Given the description of an element on the screen output the (x, y) to click on. 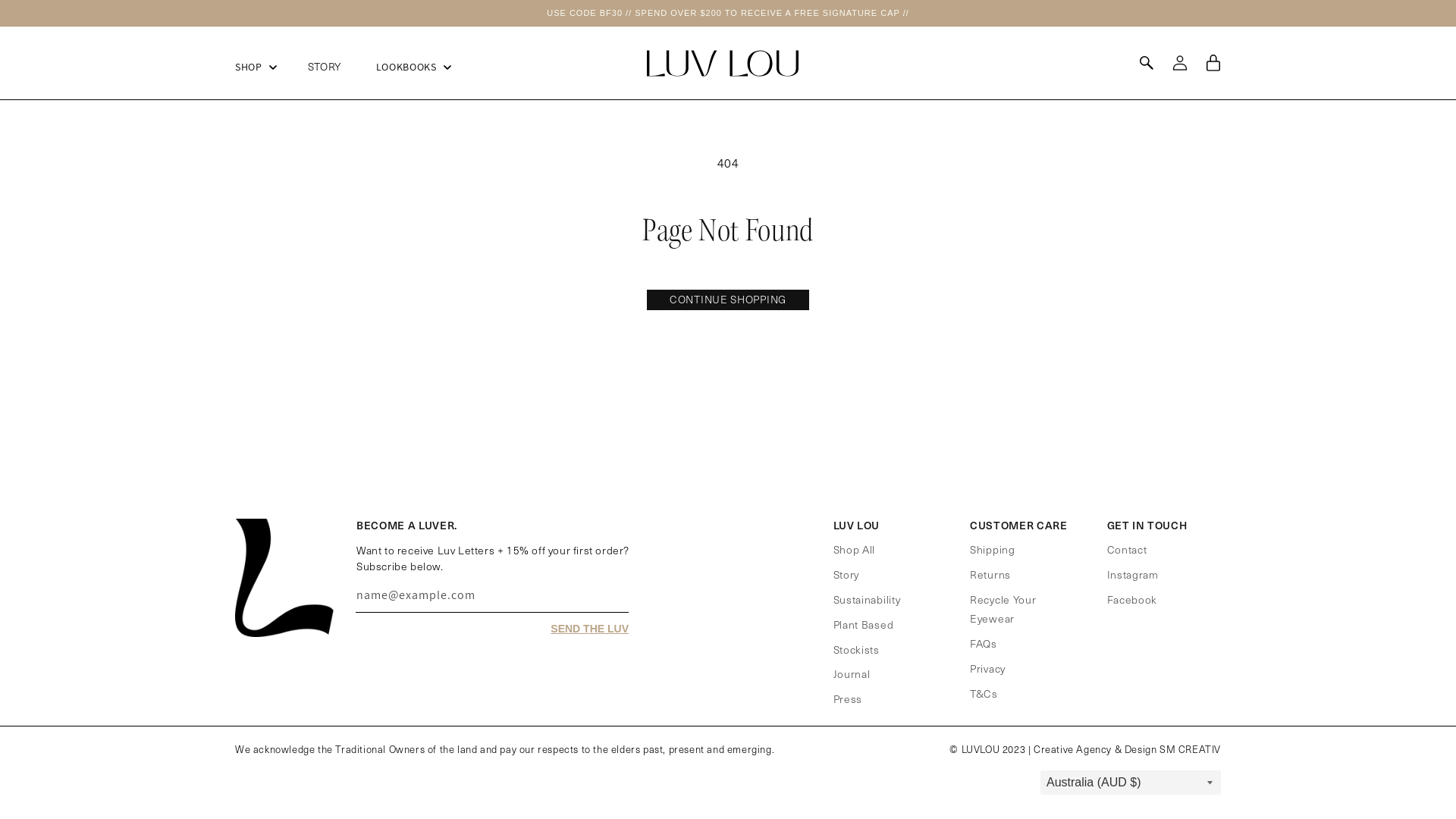
SEND THE LUV Element type: text (589, 628)
Recycle Your Eyewear Element type: text (1021, 606)
Privacy Element type: text (987, 666)
T&Cs Element type: text (983, 690)
Press Element type: text (847, 696)
Shop All Element type: text (853, 548)
Stockists Element type: text (855, 647)
Contact Element type: text (1127, 548)
Story Element type: text (845, 572)
FAQs Element type: text (983, 641)
Creative Agency & Design SM CREATIV Element type: text (1126, 748)
Journal Element type: text (850, 671)
Log in Element type: text (1179, 62)
Sustainability Element type: text (866, 597)
Instagram Element type: text (1132, 572)
Shipping Element type: text (992, 548)
Returns Element type: text (989, 572)
Cart Element type: text (1213, 62)
STORY Element type: text (324, 66)
Plant Based Element type: text (862, 622)
Facebook Element type: text (1132, 597)
CONTINUE SHOPPING Element type: text (727, 299)
